Given the description of an element on the screen output the (x, y) to click on. 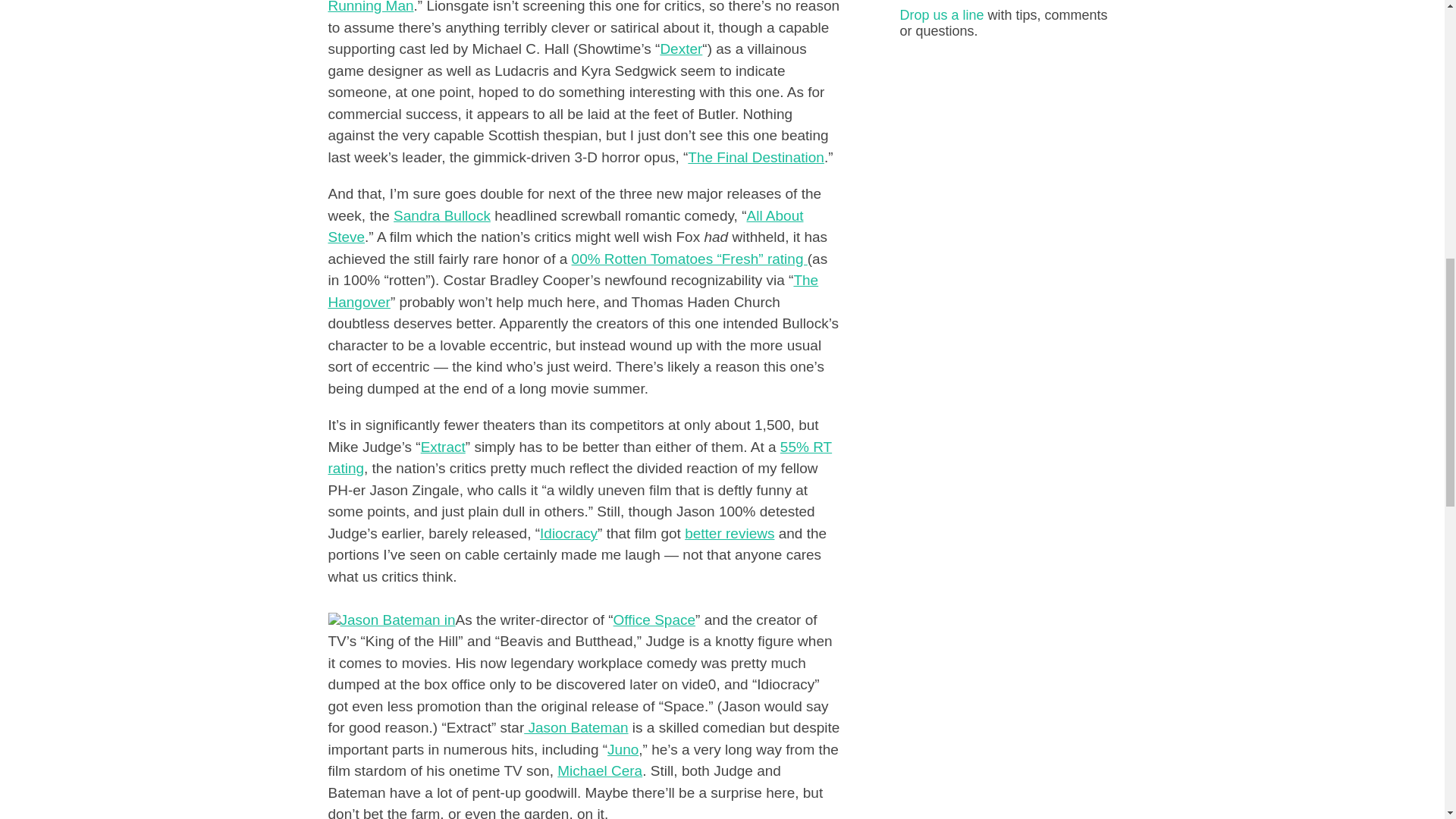
All About Steve (565, 226)
Office Space (653, 619)
better reviews (729, 533)
The Running Man (577, 7)
Sandra Bullock (441, 215)
The Final Destination (755, 157)
Dexter (680, 48)
Extract (442, 446)
Jason Bateman (575, 727)
Idiocracy (568, 533)
The Hangover (572, 290)
